Given the description of an element on the screen output the (x, y) to click on. 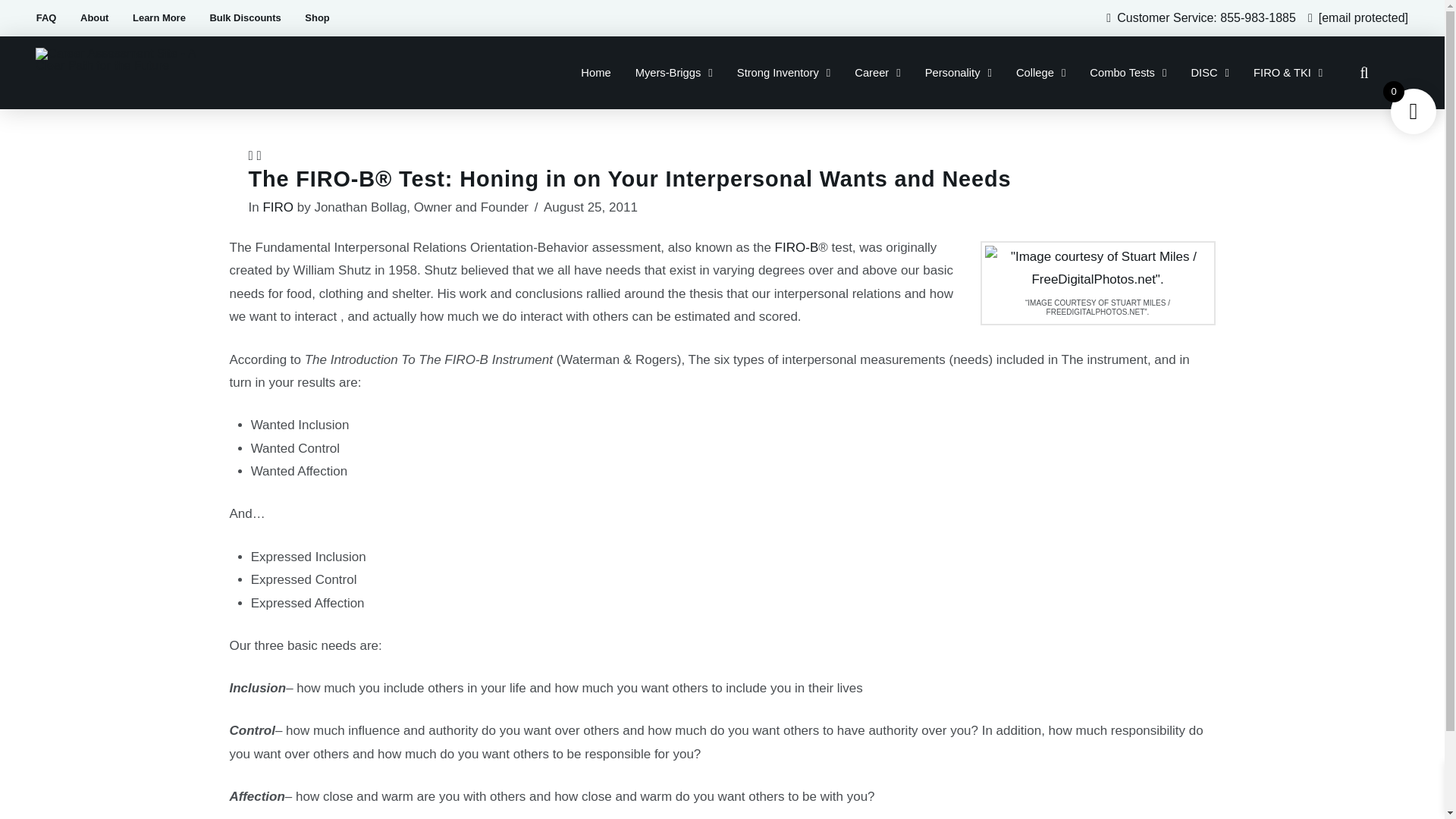
Bulk Discounts (246, 18)
Learn More (158, 18)
Learn all about the Firo B (796, 247)
Shop (318, 18)
Myers-Briggs (674, 72)
FAQ (46, 18)
About (94, 18)
Customer Service: 855-983-1885 (1205, 17)
Home (596, 72)
